Given the description of an element on the screen output the (x, y) to click on. 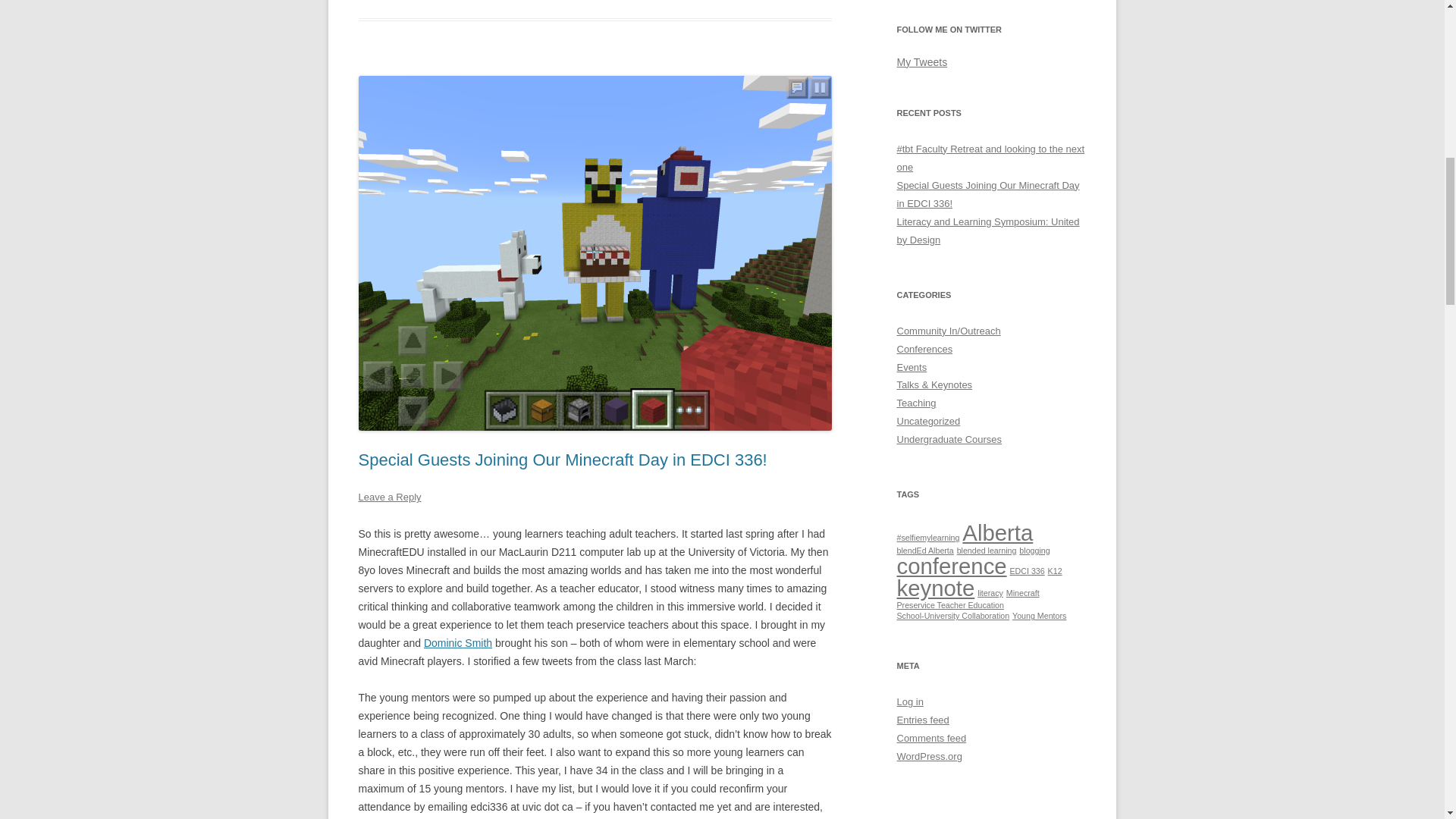
Dominic Smith (457, 643)
Special Guests Joining Our Minecraft Day in EDCI 336! (562, 459)
Leave a Reply (389, 496)
